Given the description of an element on the screen output the (x, y) to click on. 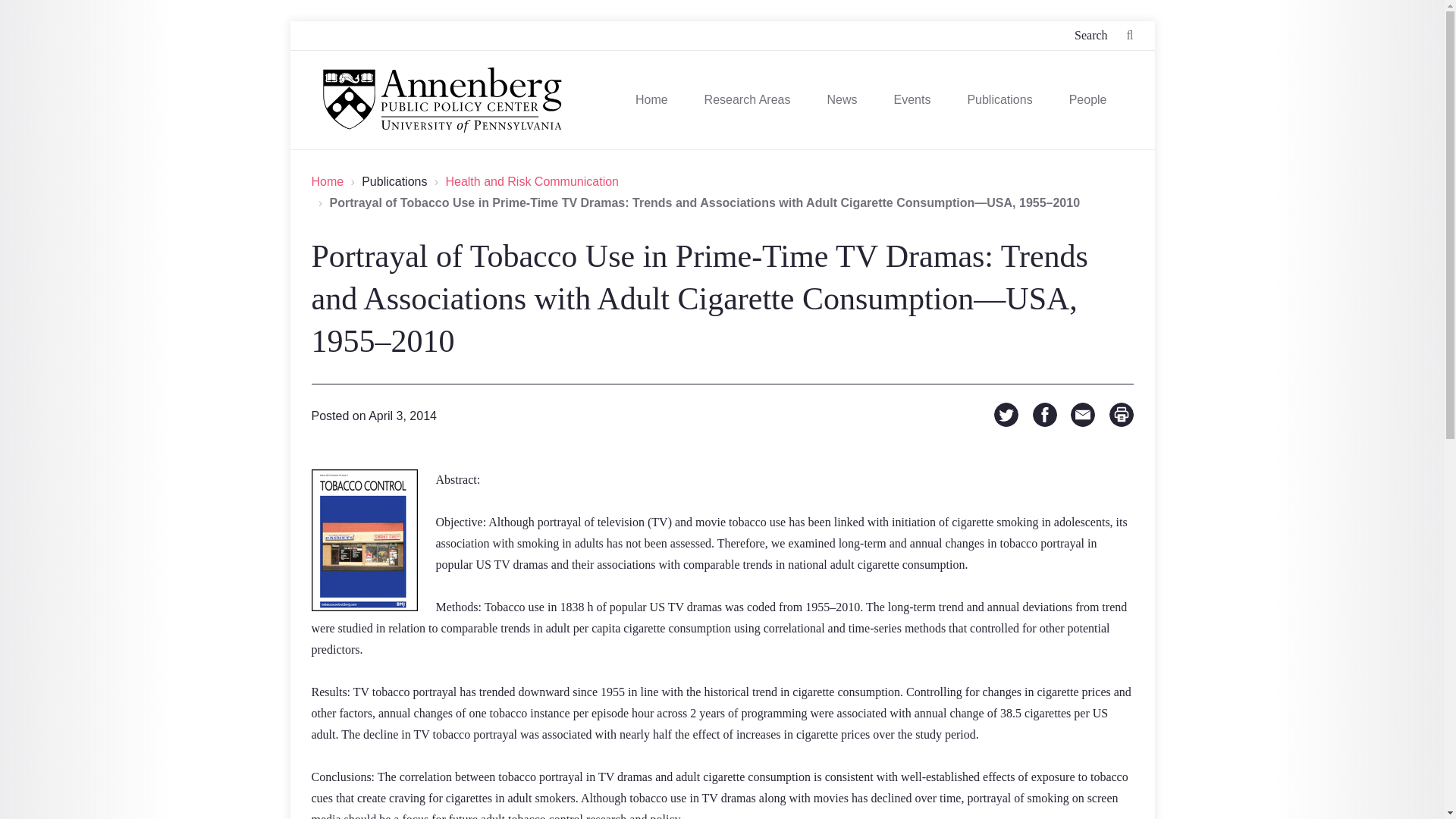
People (1087, 100)
Research Areas (747, 100)
Research Areas (747, 100)
News (842, 100)
Events (911, 100)
News (842, 100)
Home (651, 100)
Events (911, 100)
Home (651, 100)
Publications (999, 100)
